Given the description of an element on the screen output the (x, y) to click on. 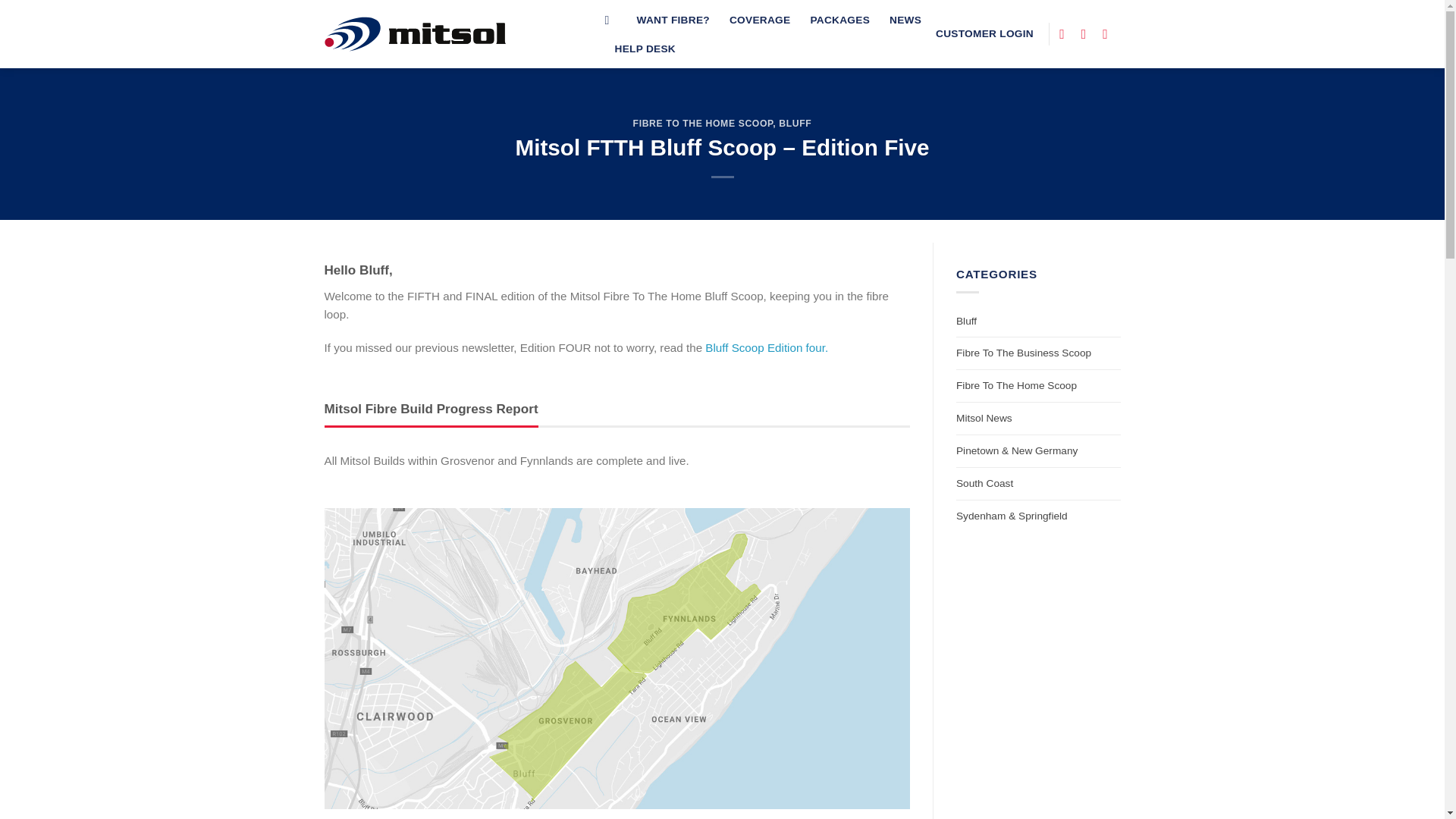
WANT FIBRE? (673, 20)
Follow on Instagram (1087, 33)
CUSTOMER LOGIN (984, 33)
FIBRE TO THE HOME SCOOP (703, 122)
PACKAGES (839, 20)
HELP DESK (644, 49)
Fibre To The Home Scoop (1016, 386)
COVERAGE (759, 20)
Follow on Facebook (1066, 33)
BLUFF (794, 122)
